Given the description of an element on the screen output the (x, y) to click on. 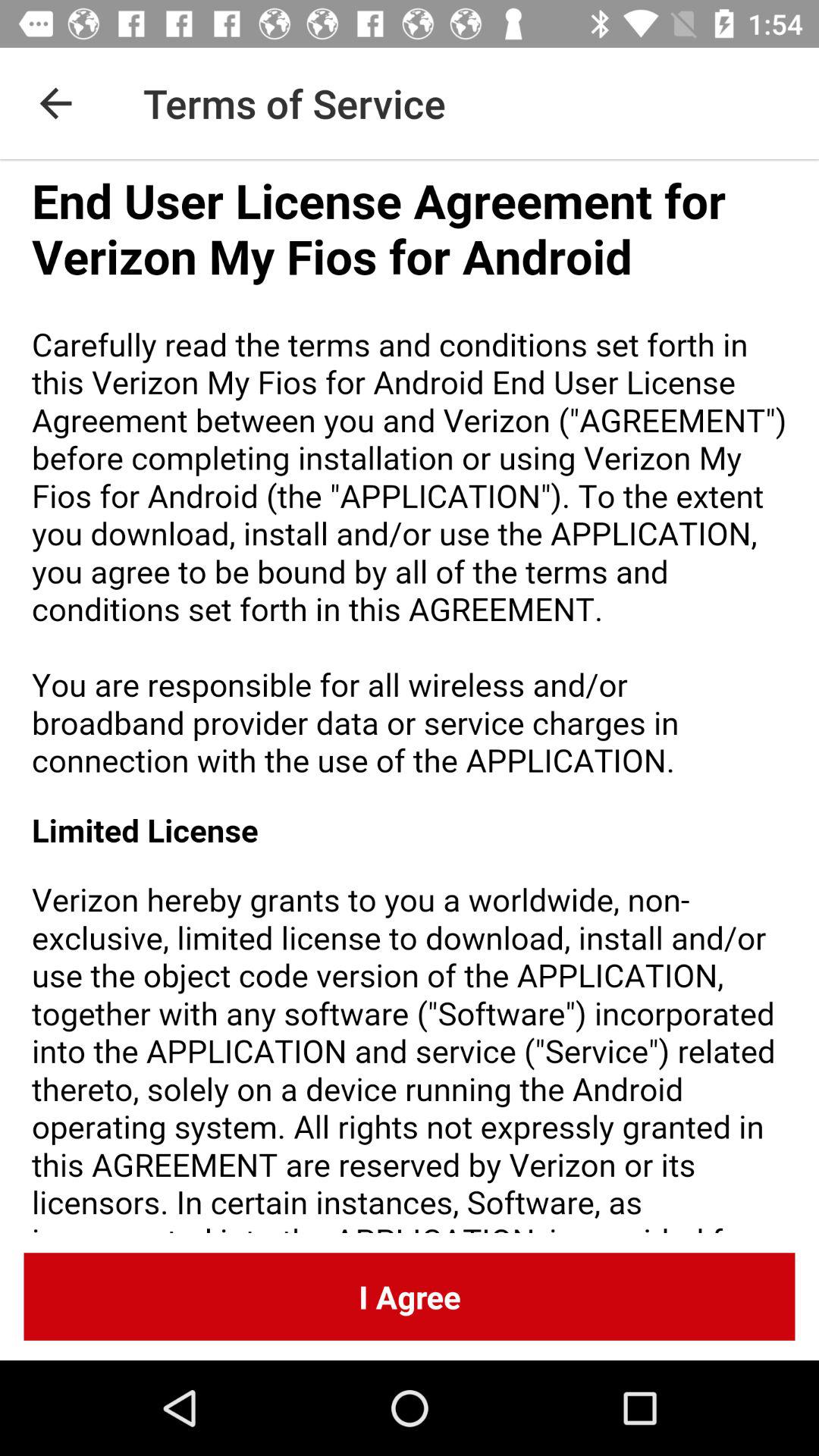
scroll through text (409, 696)
